Given the description of an element on the screen output the (x, y) to click on. 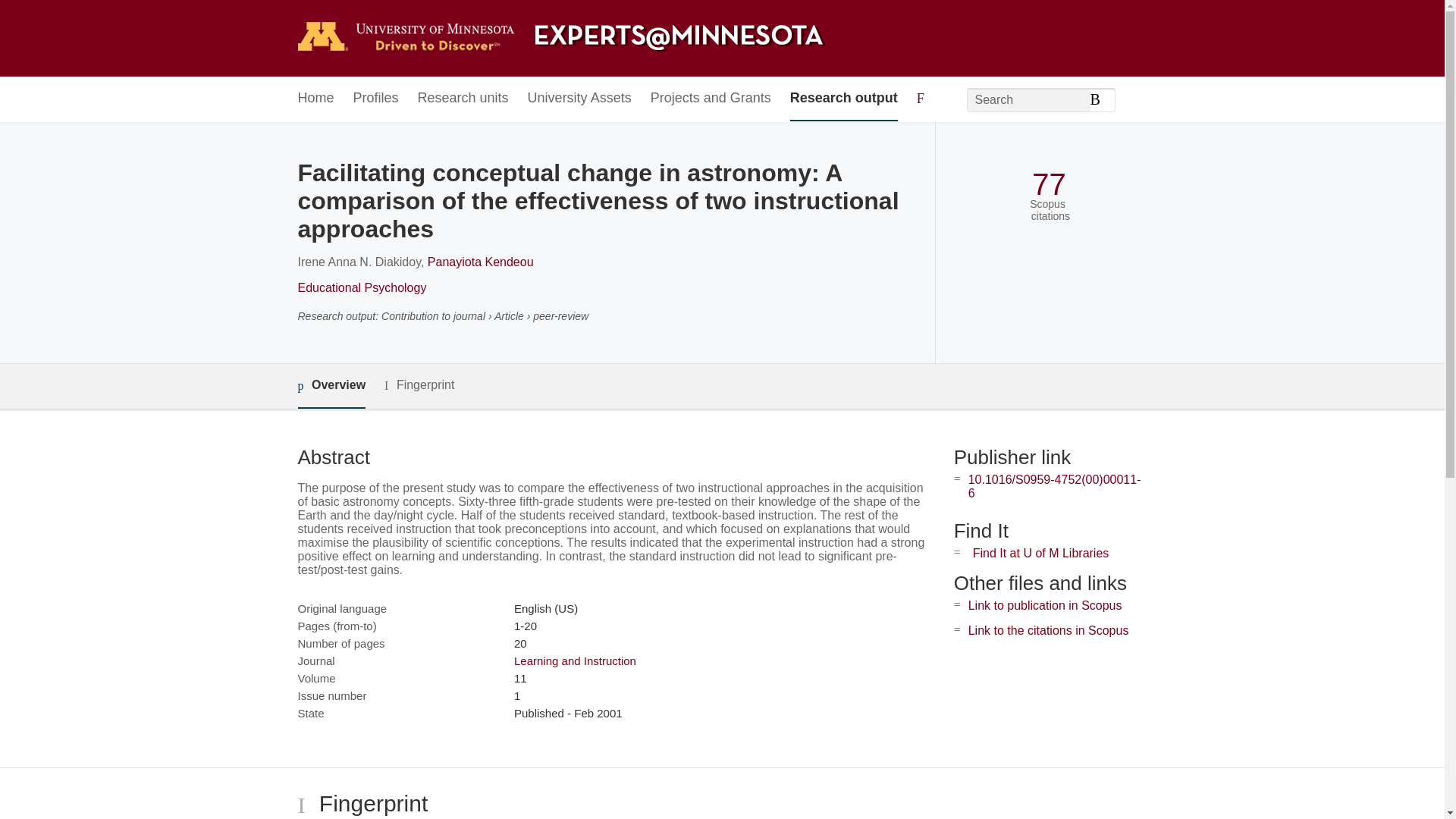
Overview (331, 385)
Research units (462, 98)
Profiles (375, 98)
Find It at U of M Libraries (1040, 553)
Educational Psychology (361, 287)
Projects and Grants (710, 98)
Panayiota Kendeou (481, 261)
Learning and Instruction (574, 660)
University Assets (579, 98)
Link to the citations in Scopus (1048, 630)
Link to publication in Scopus (1045, 604)
Fingerprint (419, 385)
77 (1048, 184)
Research output (844, 98)
